Given the description of an element on the screen output the (x, y) to click on. 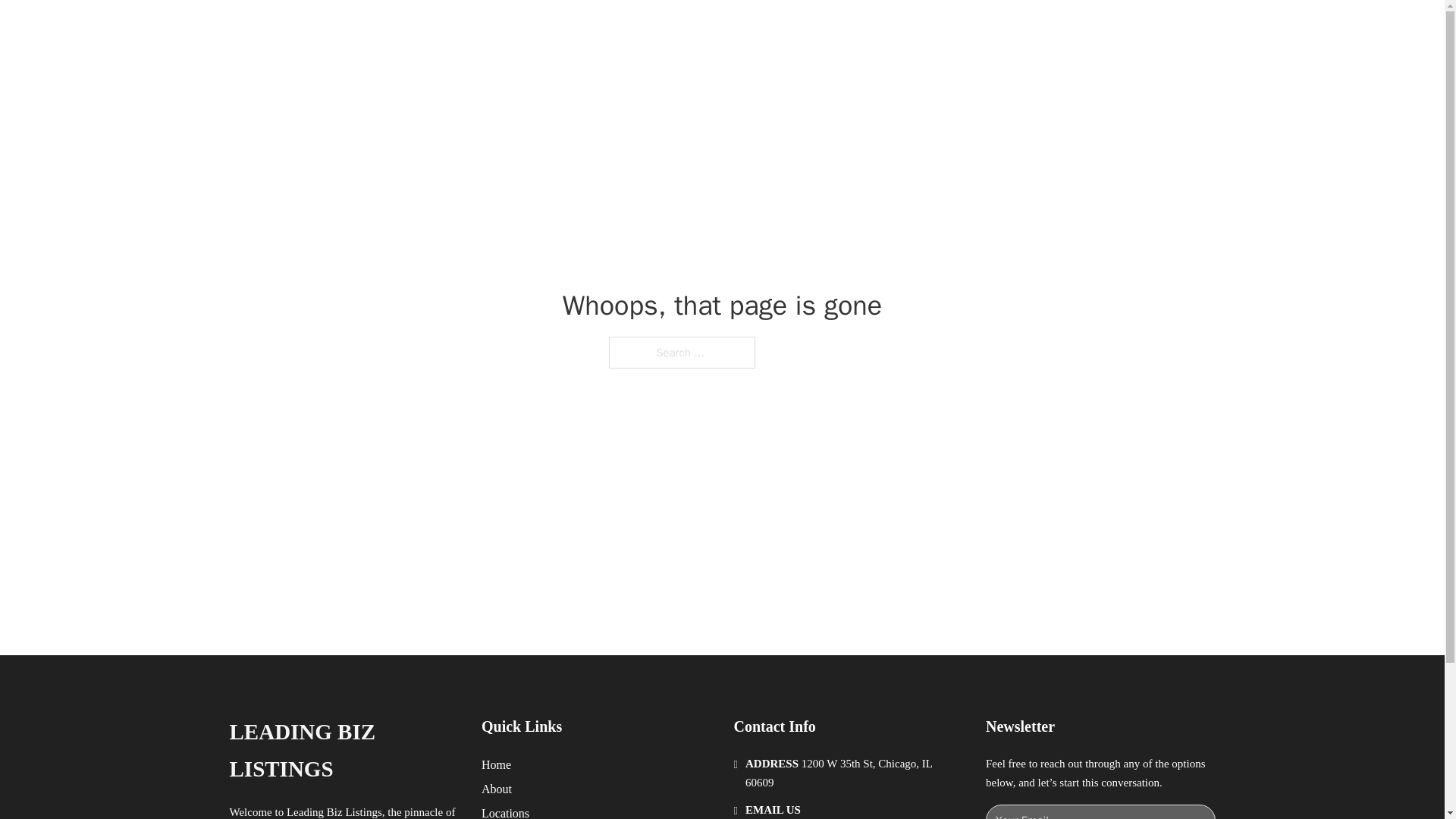
Locations (505, 811)
LEADING BIZ LISTINGS (343, 750)
About (496, 788)
Home (496, 764)
